Given the description of an element on the screen output the (x, y) to click on. 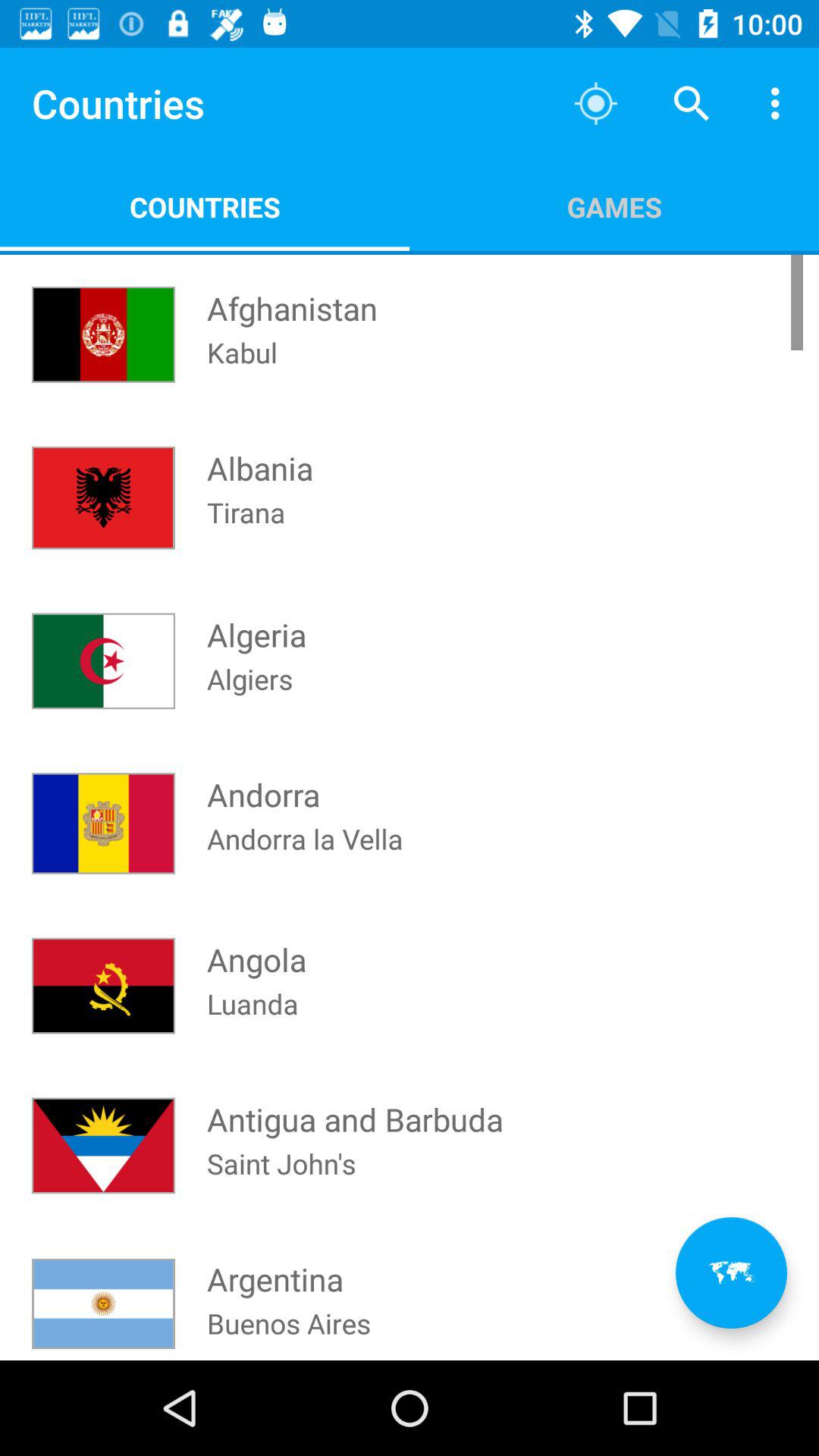
launch the item above argentina item (281, 1183)
